Given the description of an element on the screen output the (x, y) to click on. 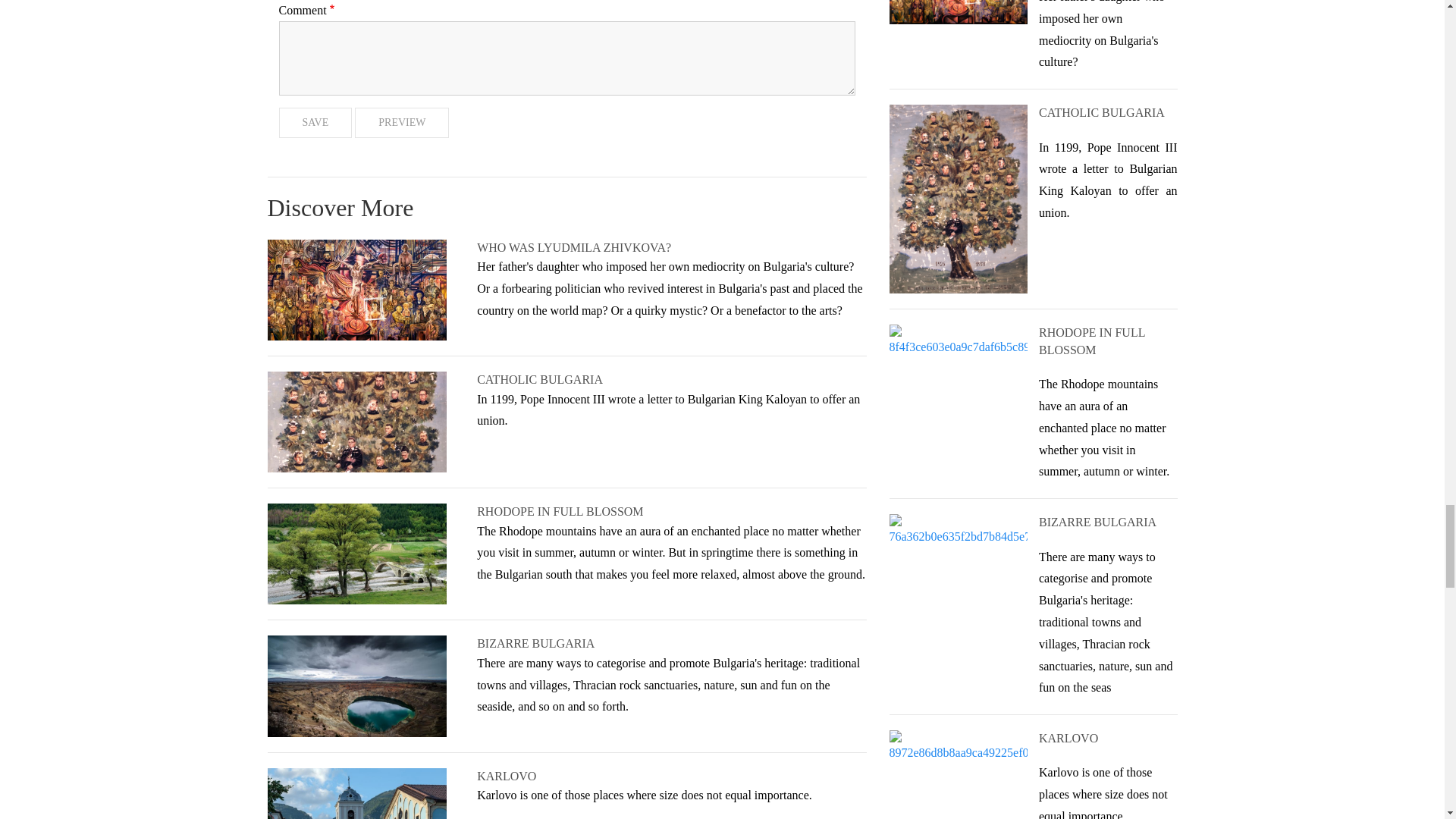
Preview (401, 122)
Save (315, 122)
